Given the description of an element on the screen output the (x, y) to click on. 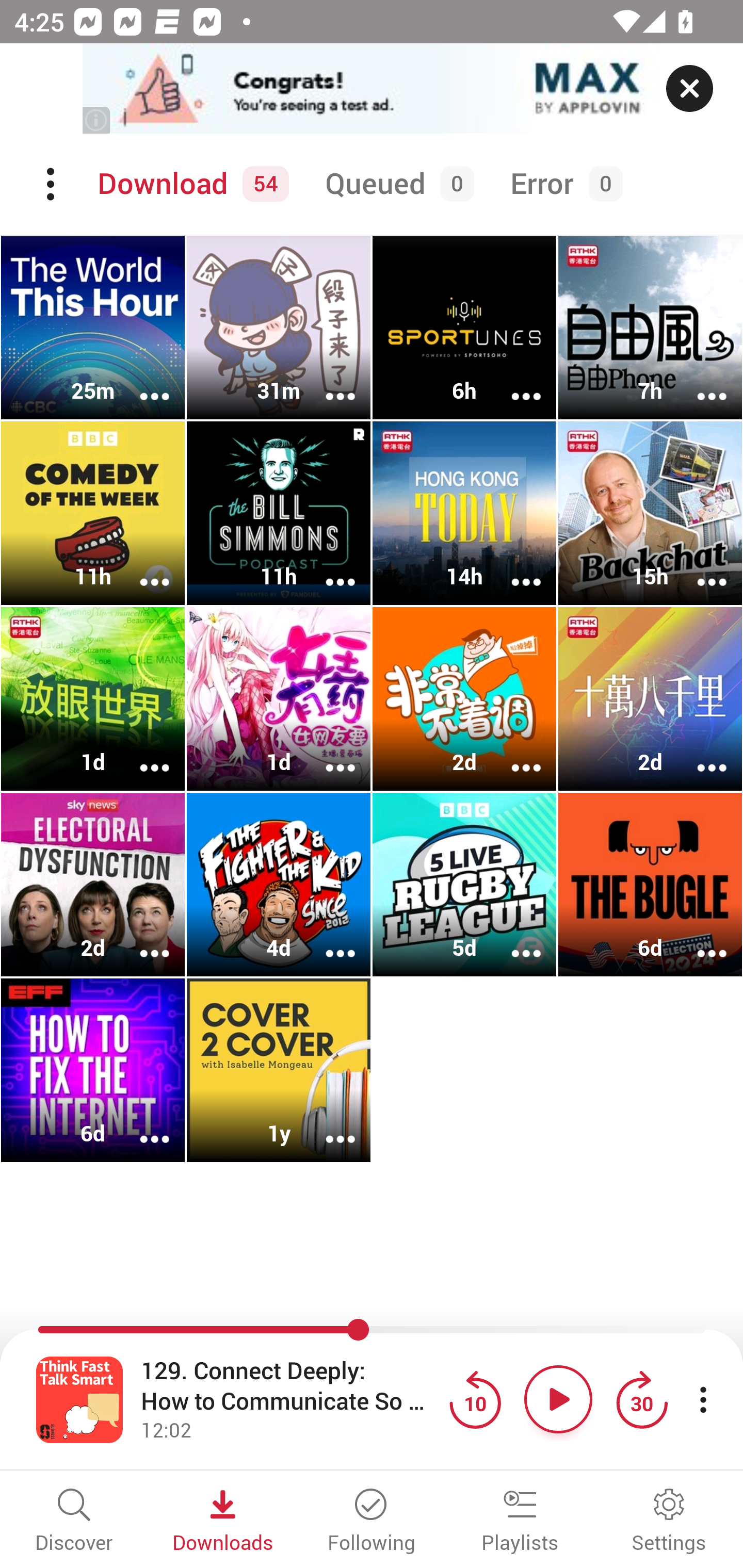
app-monetization (371, 88)
(i) (96, 119)
Menu (52, 184)
 Download 54 (189, 184)
 Queued 0 (396, 184)
 Error 0 (562, 184)
The World This Hour 25m More options More options (92, 327)
段子来了 31m More options More options (278, 327)
Sportunes HK 6h More options More options (464, 327)
自由风自由PHONE 7h More options More options (650, 327)
More options (141, 382)
More options (326, 382)
More options (512, 382)
More options (698, 382)
Comedy of the Week 11h More options More options (92, 513)
Hong Kong Today 14h More options More options (464, 513)
Backchat 15h More options More options (650, 513)
More options (141, 569)
More options (326, 569)
More options (512, 569)
More options (698, 569)
放眼世界 1d More options More options (92, 698)
女王有药丨爆笑脱口秀 1d More options More options (278, 698)
非常不着调 2d More options More options (464, 698)
十萬八千里 2d More options More options (650, 698)
More options (141, 754)
More options (326, 754)
More options (512, 754)
More options (698, 754)
Electoral Dysfunction 2d More options More options (92, 883)
The Fighter & The Kid 4d More options More options (278, 883)
5 Live Rugby League 5d More options More options (464, 883)
The Bugle 6d More options More options (650, 883)
More options (141, 940)
More options (326, 940)
More options (512, 940)
More options (698, 940)
Cover 2 Cover 1y More options More options (278, 1069)
More options (141, 1125)
More options (326, 1125)
Open fullscreen player (79, 1399)
More player controls (703, 1399)
Play button (558, 1398)
Jump back (475, 1399)
Jump forward (641, 1399)
Discover (74, 1521)
Downloads (222, 1521)
Following (371, 1521)
Playlists (519, 1521)
Settings (668, 1521)
